Given the description of an element on the screen output the (x, y) to click on. 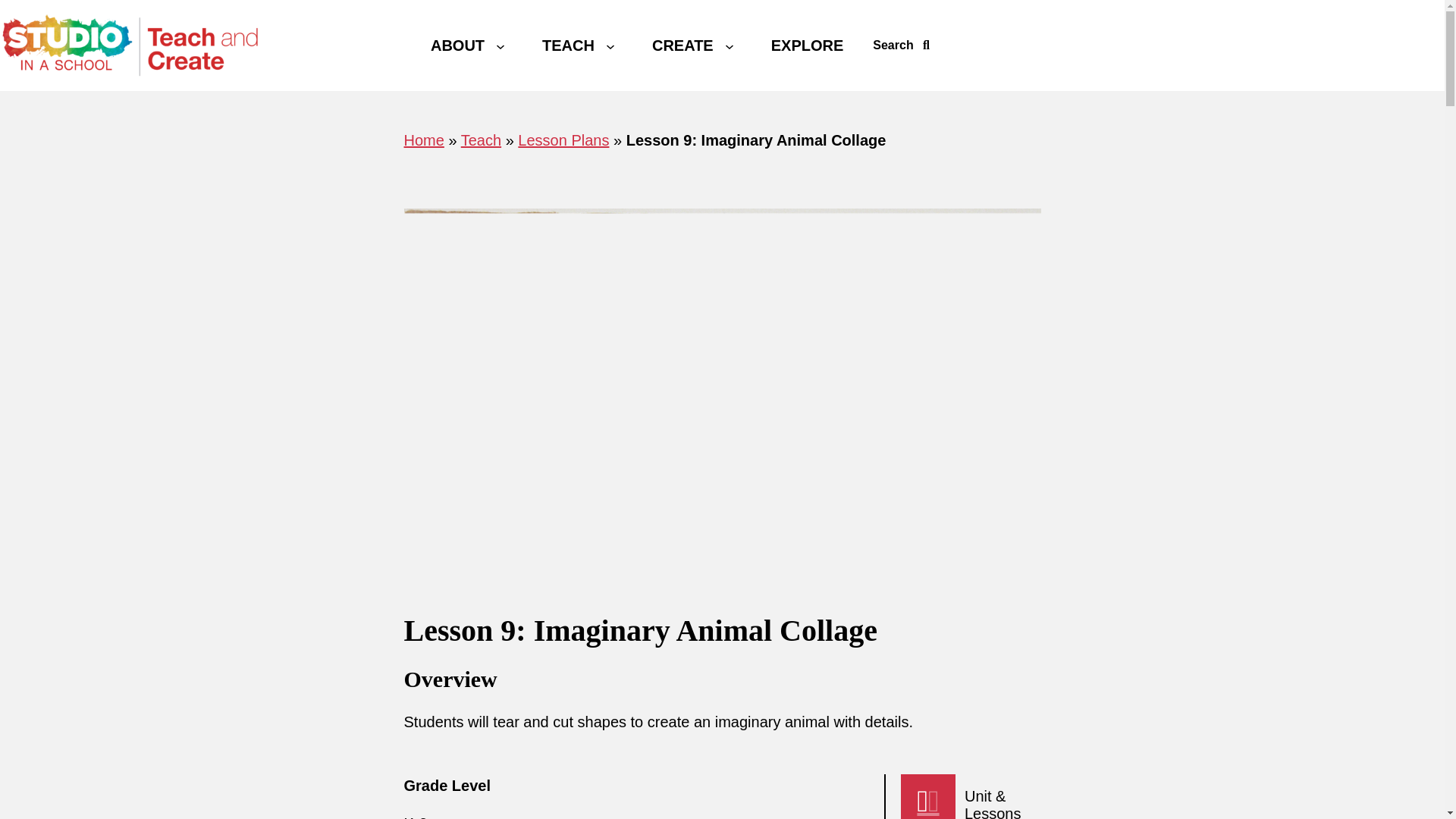
TEACH (568, 45)
CREATE (682, 45)
Home (423, 139)
About Studio in a School (457, 45)
Explore All of Our Content Through an Advanced Search (808, 45)
Teach (480, 139)
EXPLORE (808, 45)
Teach: Units and Lesson Plans for Educators (568, 45)
ABOUT (457, 45)
Search (901, 45)
Lesson Plans (563, 139)
